Given the description of an element on the screen output the (x, y) to click on. 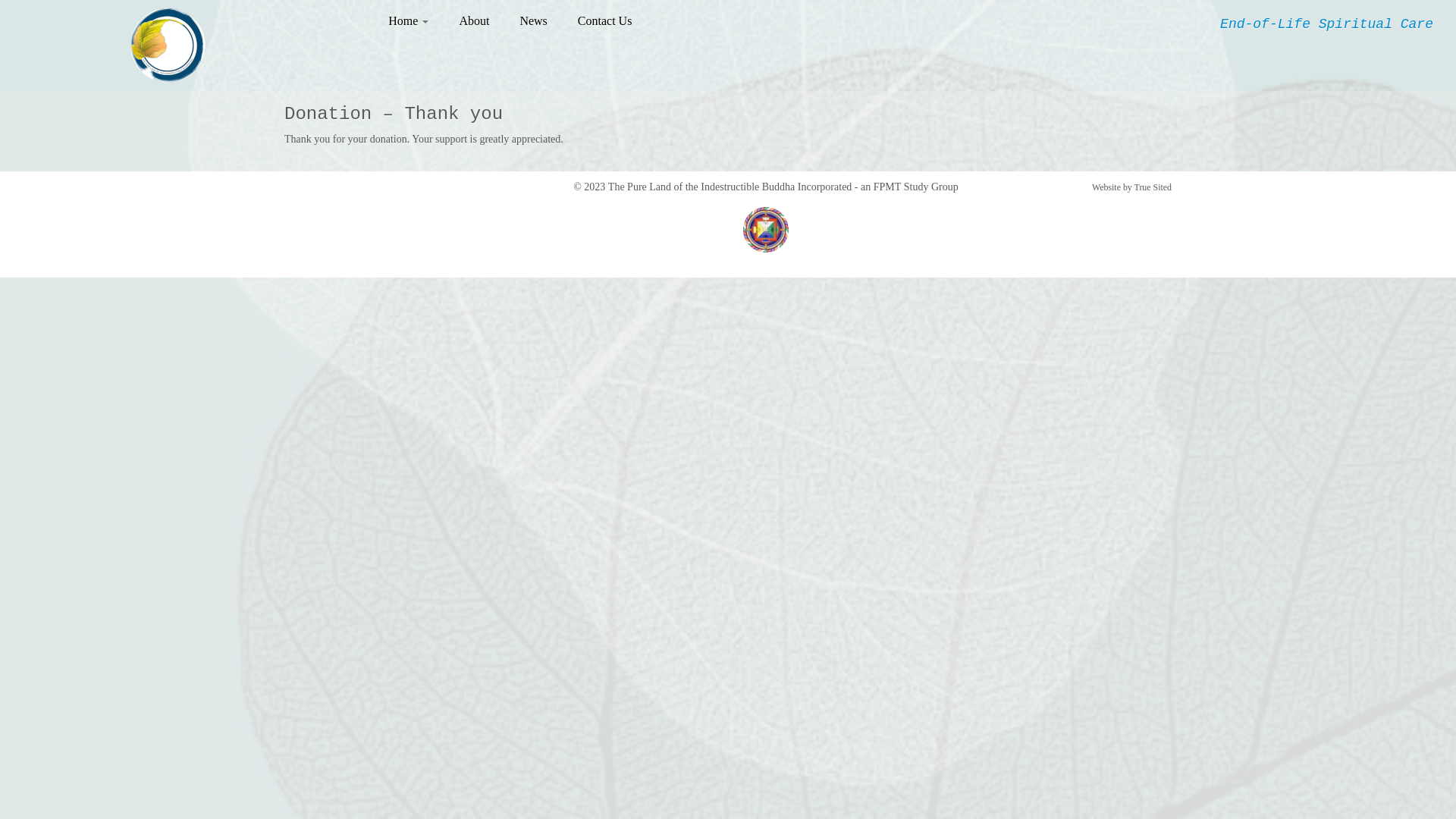
About Element type: text (473, 21)
Foundation for the Preservation of the Mahayana Tradition Element type: hover (765, 229)
Contact Us Element type: text (597, 21)
True Sited Element type: text (1152, 186)
News Element type: text (532, 21)
The Pure Land of the Indestructible Buddha Incorporated Element type: text (730, 186)
Home Element type: text (413, 21)
FPMT Element type: text (887, 186)
